Given the description of an element on the screen output the (x, y) to click on. 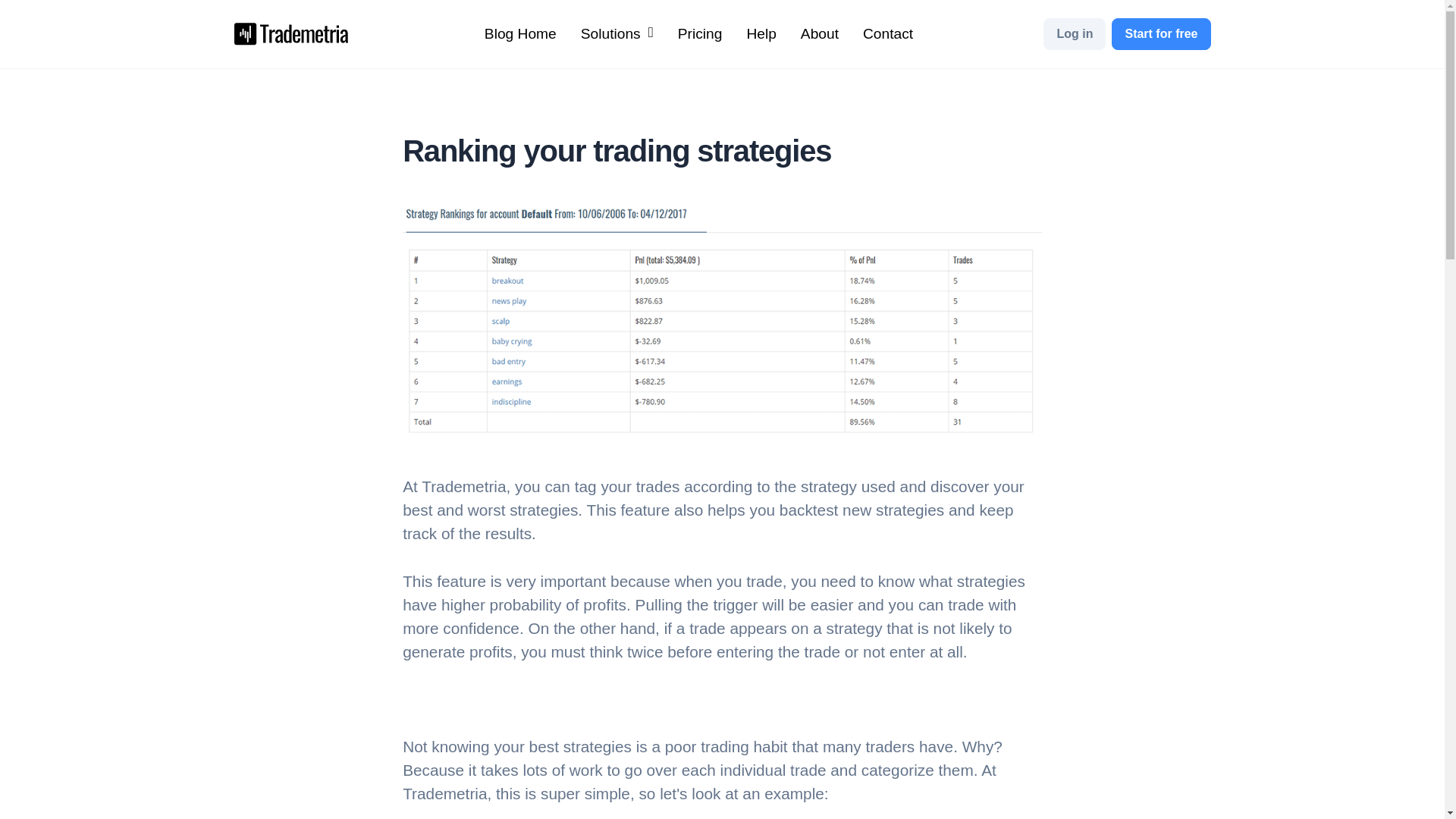
Pricing (700, 34)
Start for free (1160, 33)
About (819, 34)
Solutions (617, 34)
Help (760, 34)
Log in (1074, 33)
Blog Home (520, 34)
Contact (887, 34)
